Given the description of an element on the screen output the (x, y) to click on. 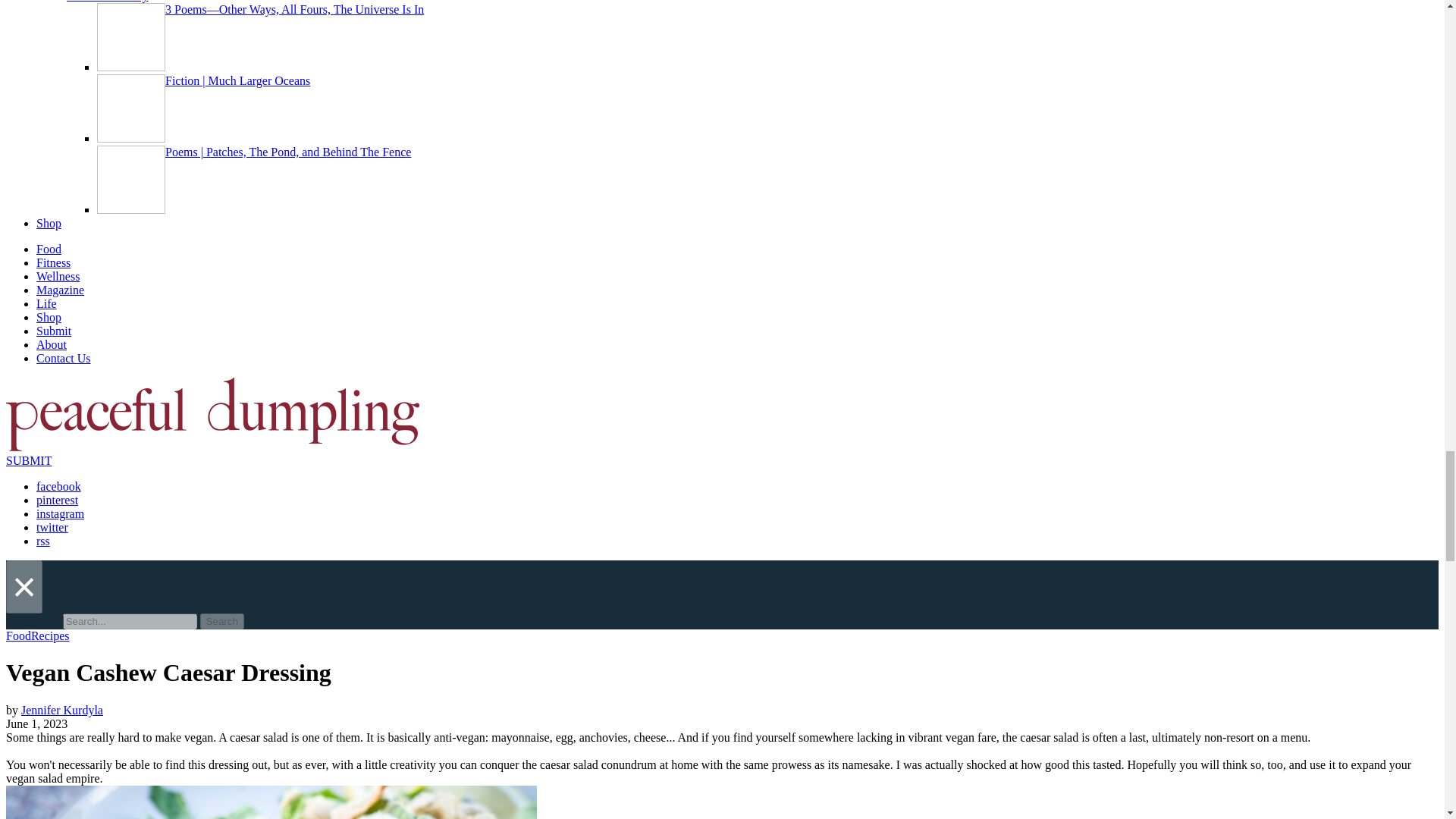
Search (222, 621)
